Given the description of an element on the screen output the (x, y) to click on. 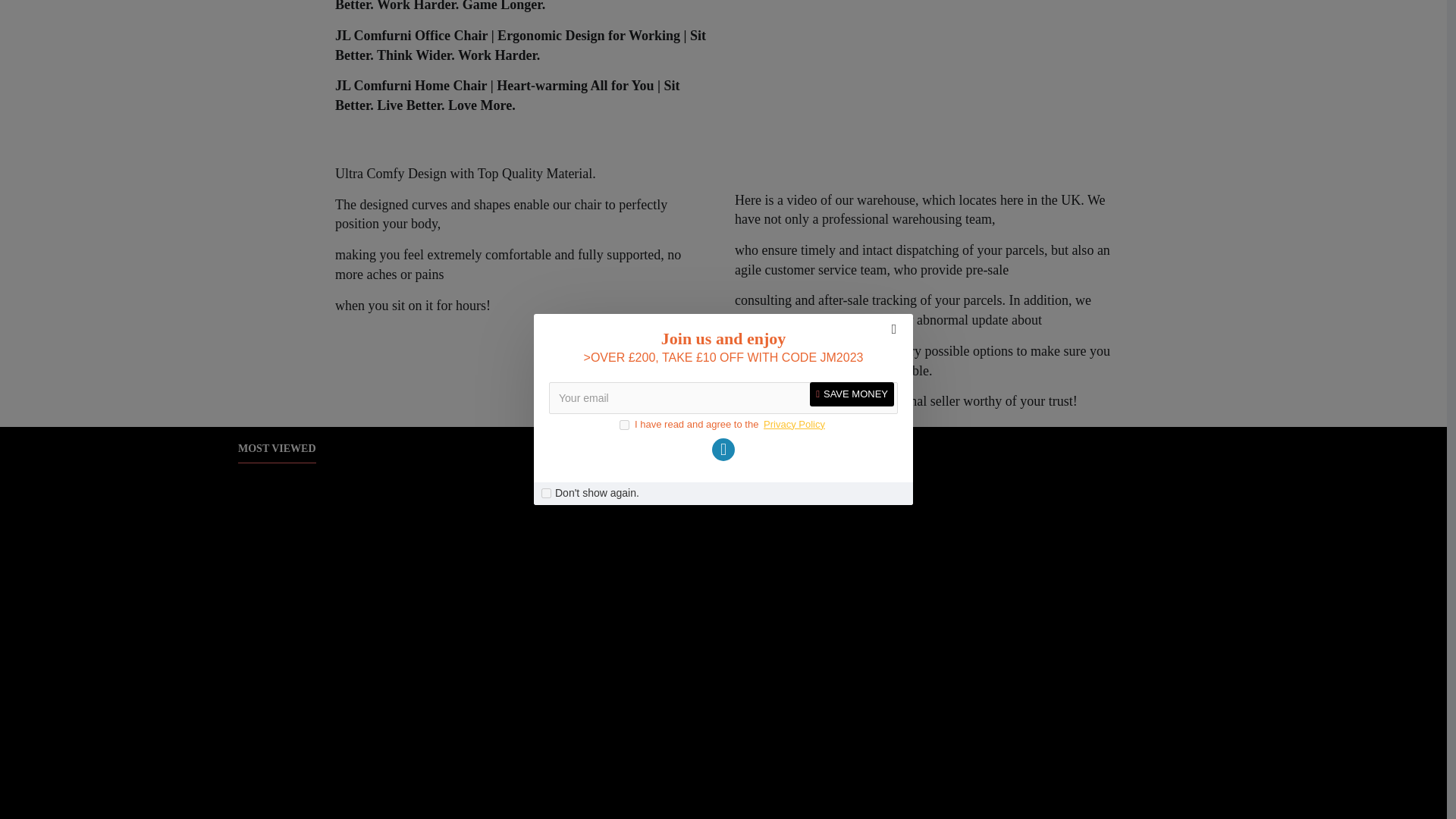
SAVE MONEY (851, 24)
Privacy Policy (794, 54)
on (546, 122)
1 (624, 54)
